Given the description of an element on the screen output the (x, y) to click on. 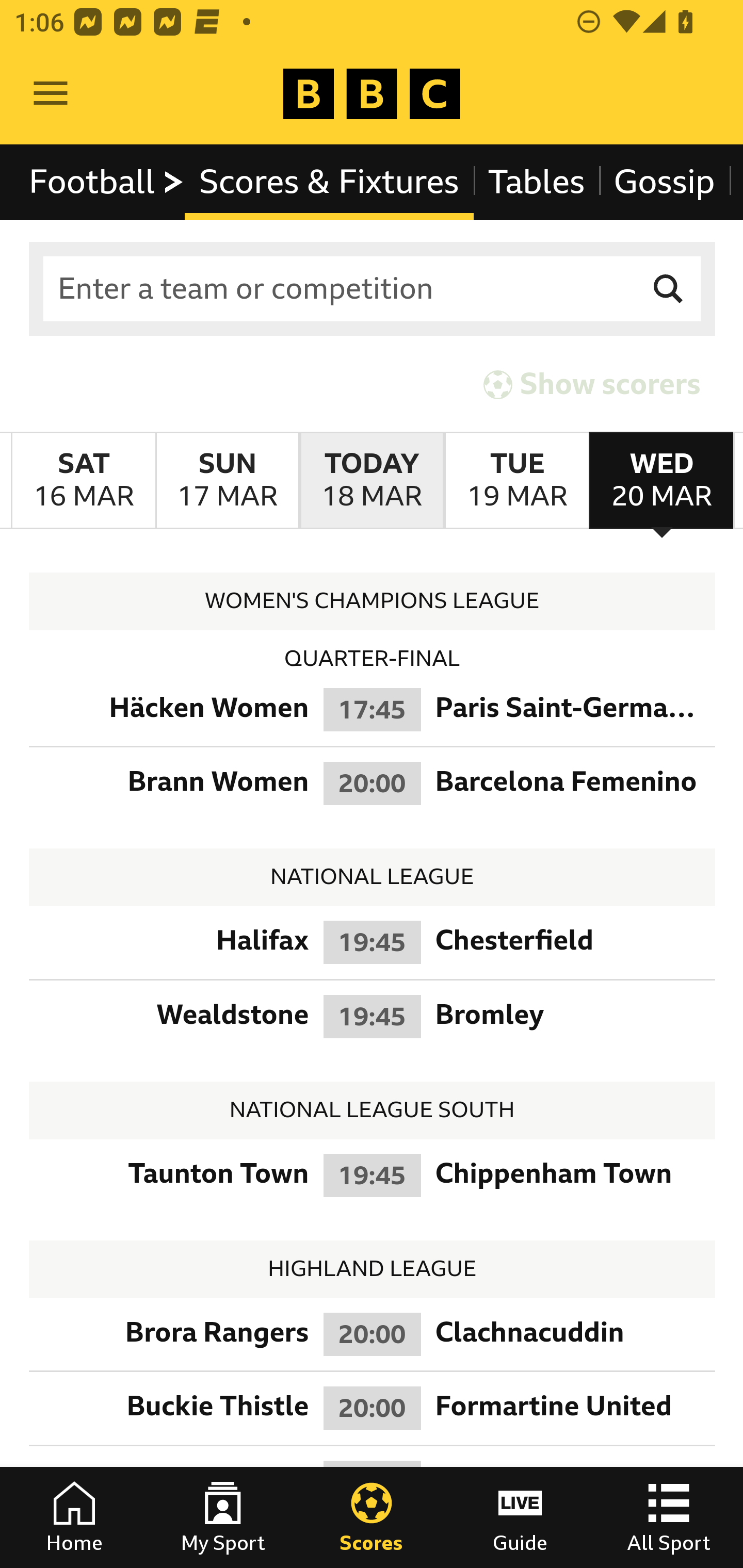
Open Menu (50, 93)
Football  (106, 181)
Scores & Fixtures (329, 181)
Tables (536, 181)
Gossip (664, 181)
Search (669, 289)
Show scorers (591, 383)
SaturdayMarch 16th Saturday March 16th (83, 480)
SundayMarch 17th Sunday March 17th (227, 480)
TodayMarch 18th Today March 18th (371, 480)
TuesdayMarch 19th Tuesday March 19th (516, 480)
WednesdayMarch 20th, Selected Wednesday March 20th (661, 480)
Home (74, 1517)
My Sport (222, 1517)
Guide (519, 1517)
All Sport (668, 1517)
